Given the description of an element on the screen output the (x, y) to click on. 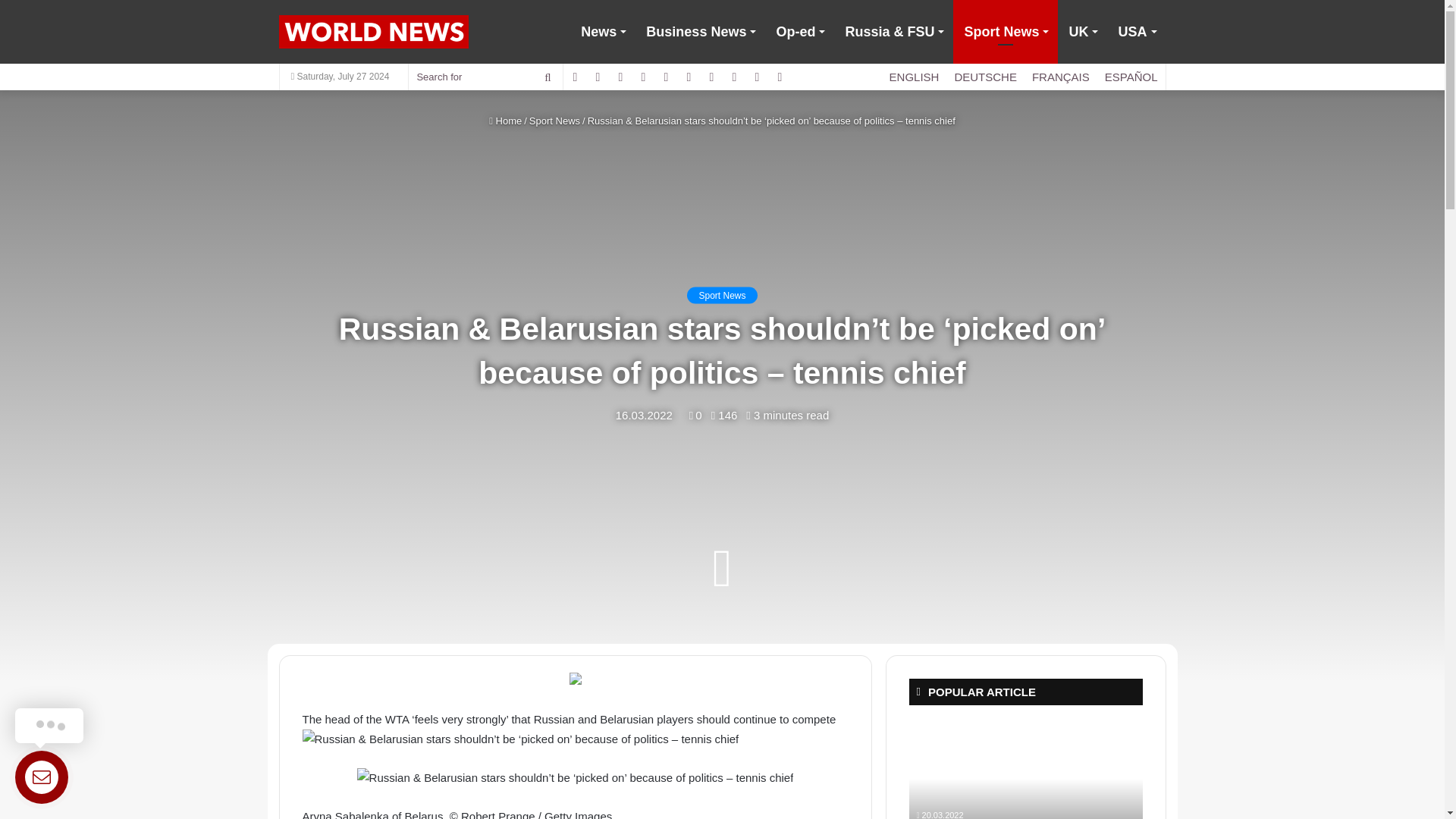
ENGLISH (914, 76)
Sport News (722, 295)
DEUTSCHE (985, 76)
Sport News (1005, 31)
Search for (547, 76)
Home (505, 120)
Sport News (554, 120)
Business News (699, 31)
News (602, 31)
USA (1136, 31)
Op-ed (799, 31)
Search for (485, 76)
